Given the description of an element on the screen output the (x, y) to click on. 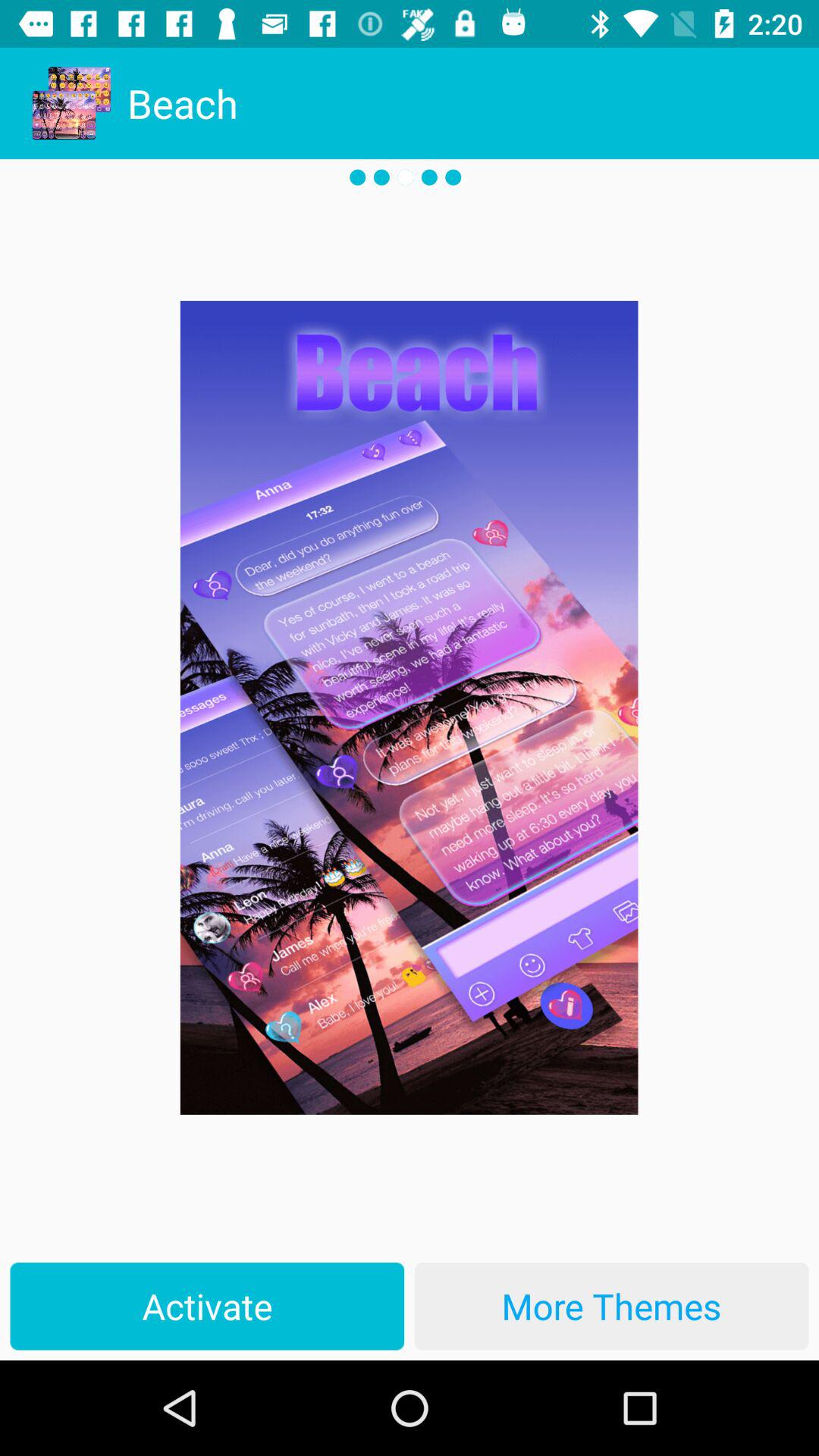
click more themes item (611, 1306)
